Given the description of an element on the screen output the (x, y) to click on. 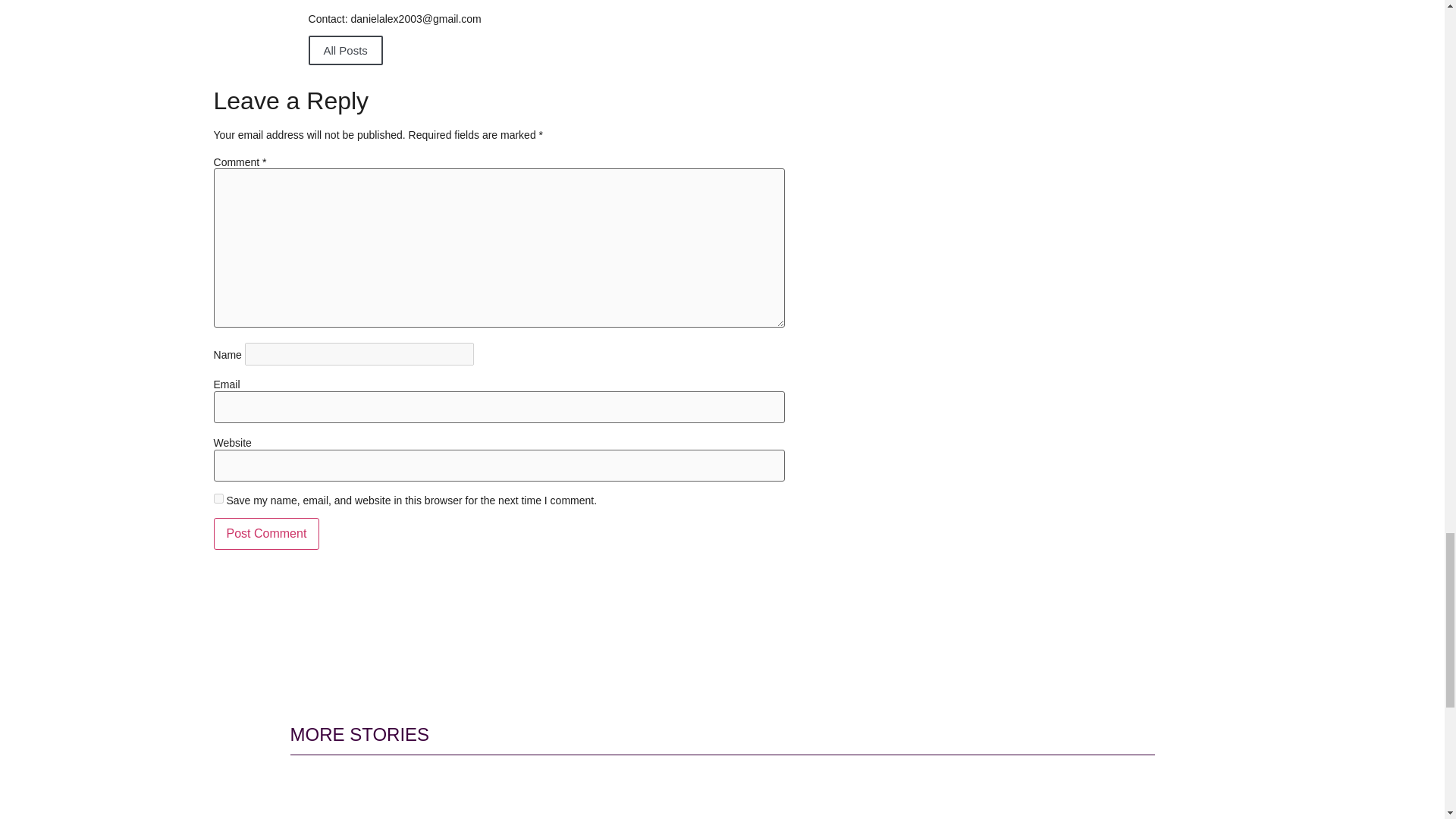
Post Comment (267, 533)
yes (219, 498)
